Given the description of an element on the screen output the (x, y) to click on. 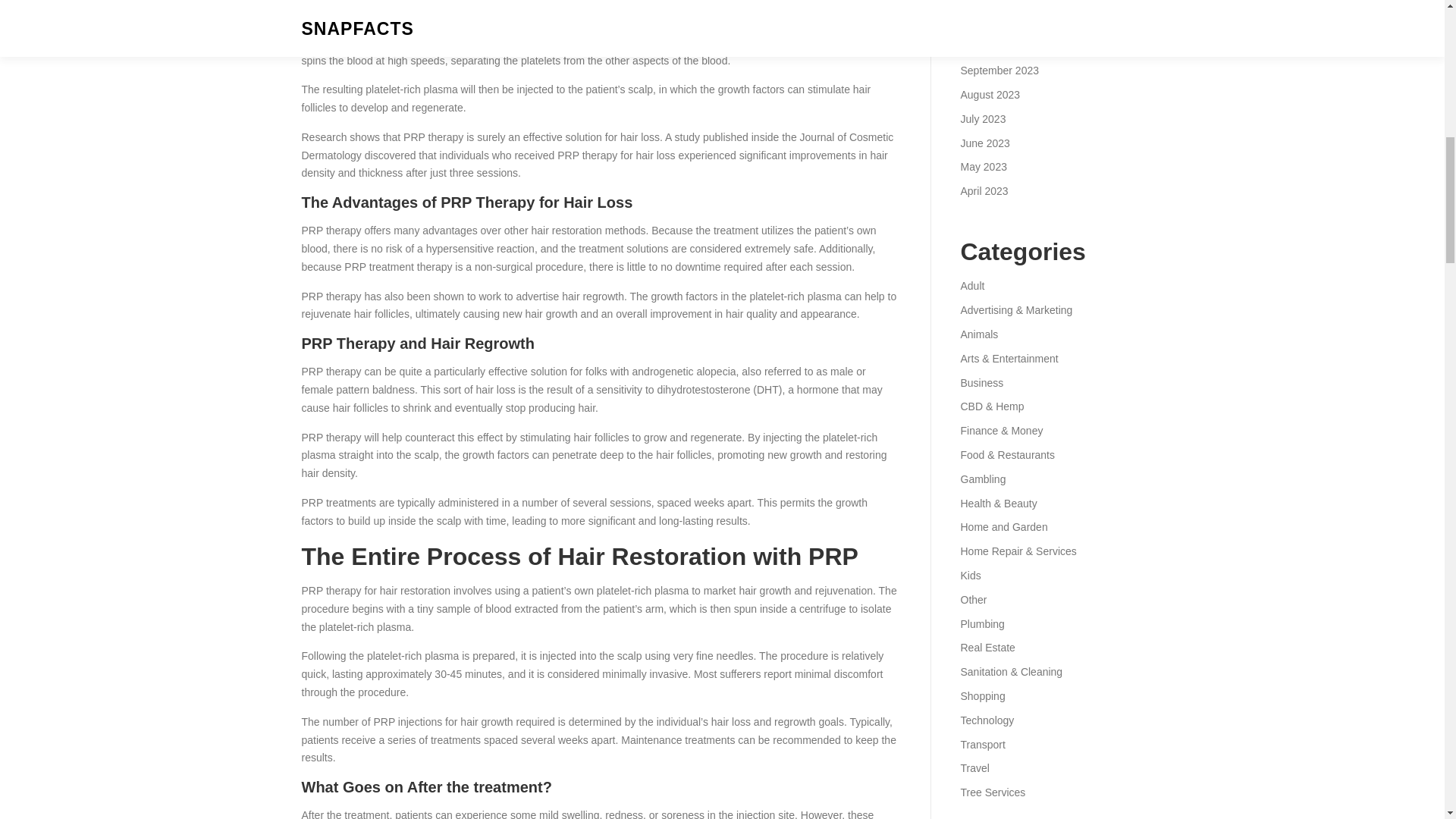
Adult (971, 285)
April 2023 (983, 191)
May 2023 (982, 166)
August 2023 (989, 94)
June 2023 (984, 143)
Business (981, 382)
July 2023 (982, 119)
October 2023 (992, 46)
December 2023 (997, 2)
November 2023 (997, 22)
Animals (978, 334)
September 2023 (999, 70)
